Given the description of an element on the screen output the (x, y) to click on. 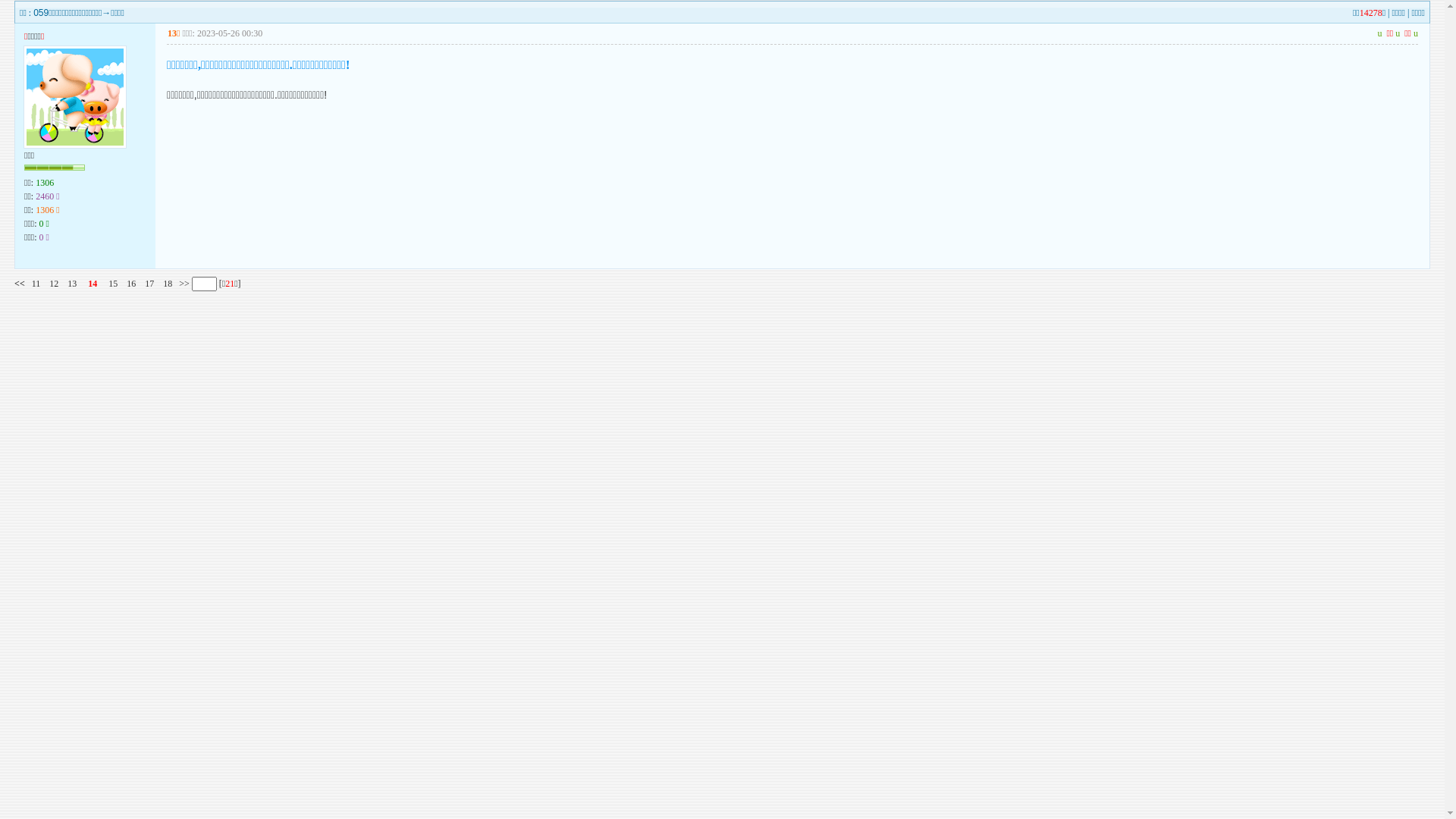
11 Element type: text (35, 283)
17 Element type: text (148, 283)
<< Element type: text (19, 283)
15 Element type: text (112, 283)
16 Element type: text (130, 283)
18 Element type: text (167, 283)
13 Element type: text (71, 283)
>> Element type: text (182, 283)
12 Element type: text (53, 283)
